Given the description of an element on the screen output the (x, y) to click on. 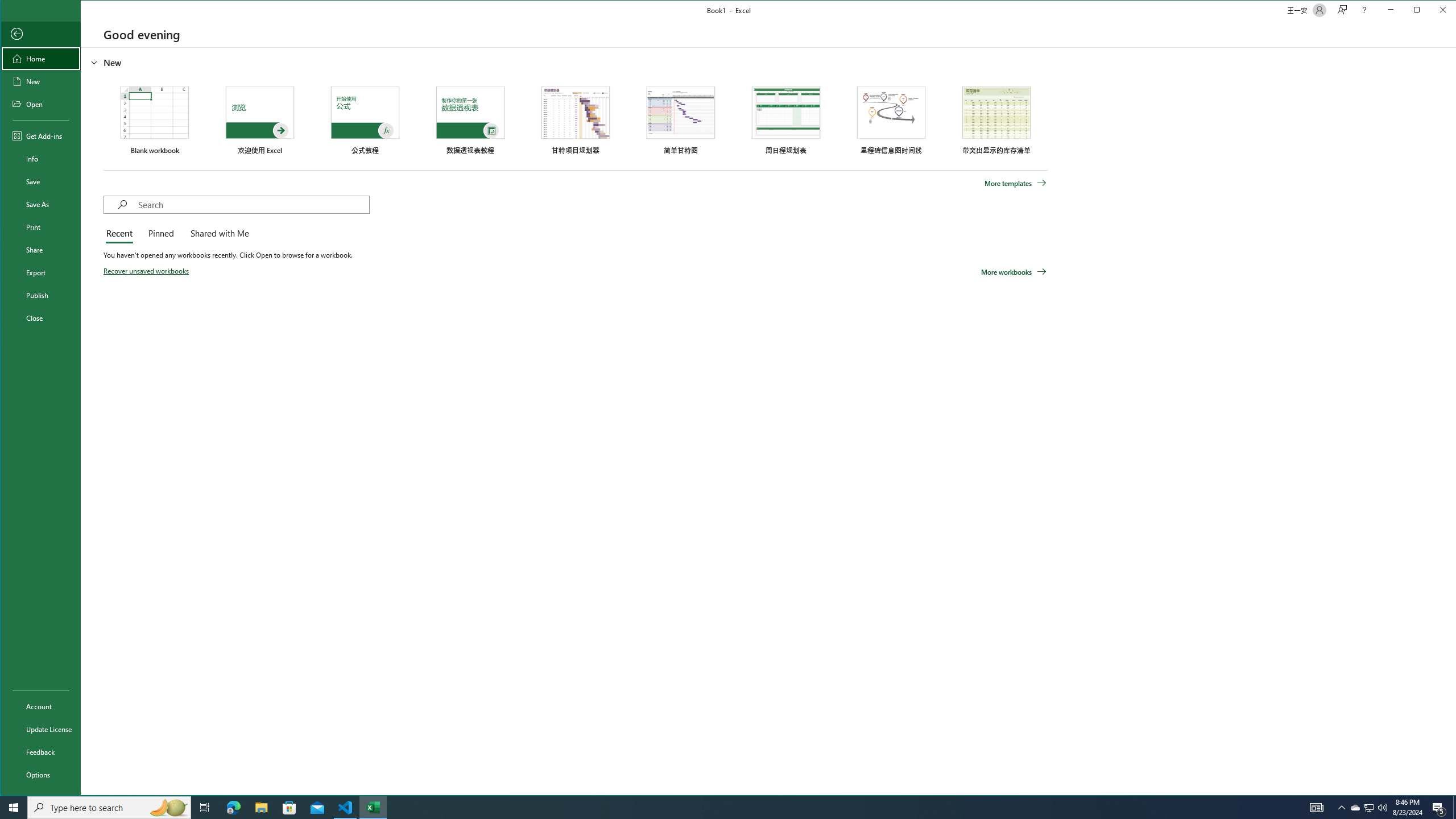
Notification Chevron (1341, 807)
Microsoft Edge (233, 807)
AutomationID: 4105 (1368, 807)
Microsoft Store (1316, 807)
Back (289, 807)
Action Center, 5 new notifications (40, 34)
Start (1439, 807)
Running applications (13, 807)
